Given the description of an element on the screen output the (x, y) to click on. 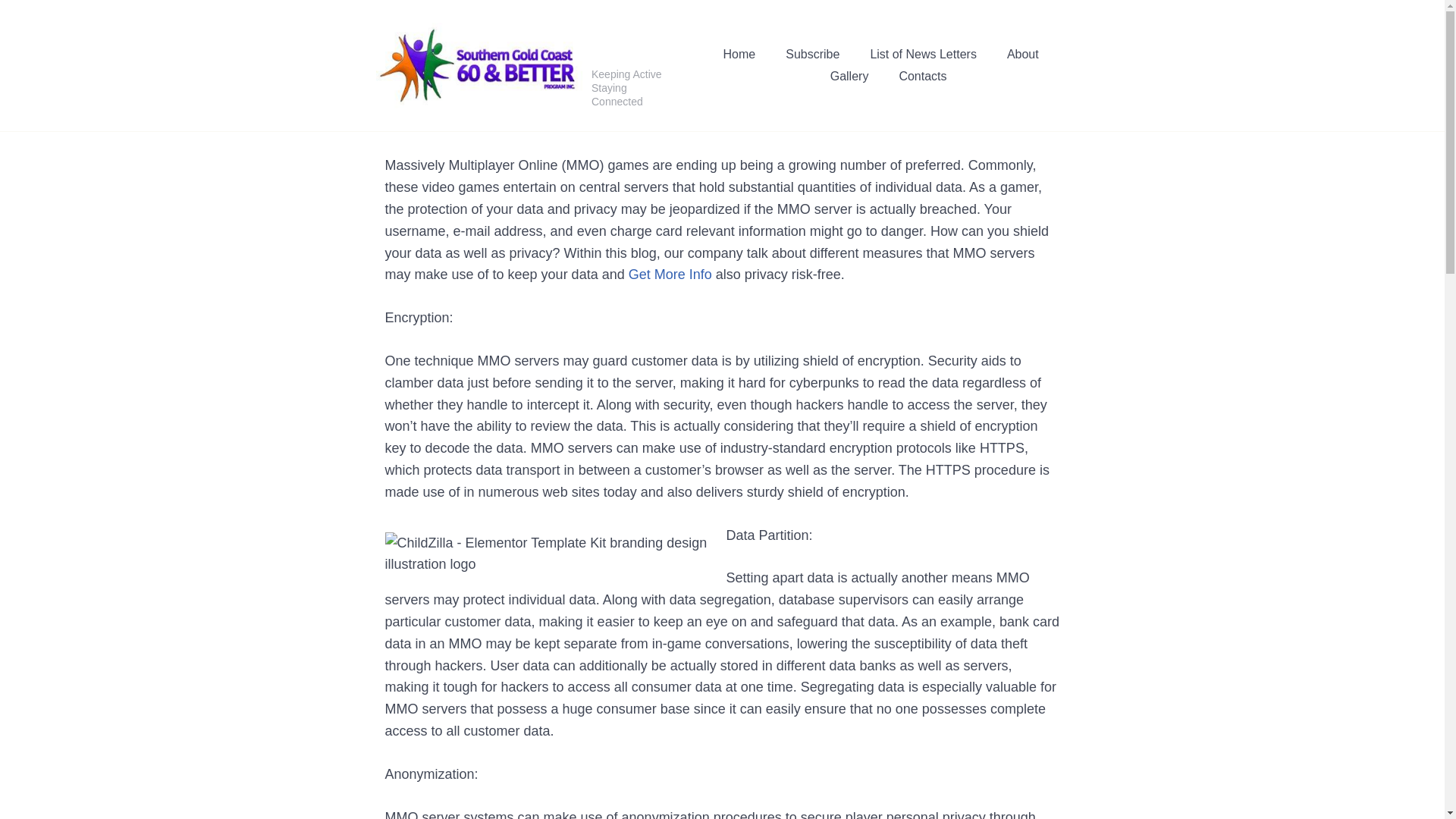
Get More Info (669, 273)
List of News Letters (922, 55)
About (1023, 55)
Home (739, 55)
Contacts (922, 76)
Gallery (849, 76)
Subscribe (813, 55)
